Given the description of an element on the screen output the (x, y) to click on. 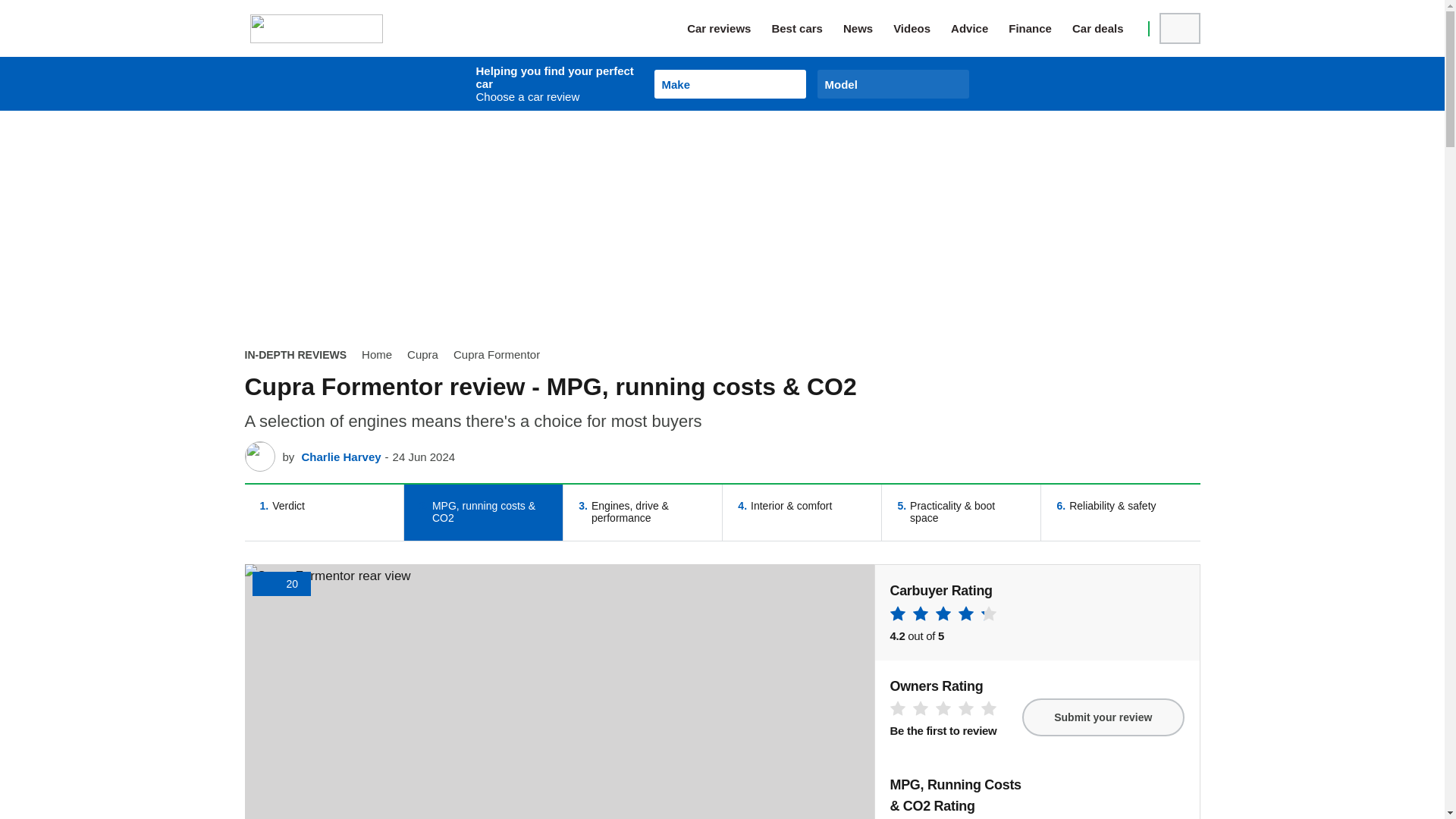
Leave your review (1102, 717)
Car deals (1107, 27)
Car reviews (729, 27)
0 Stars (942, 711)
News (868, 27)
Finance (1040, 27)
Best cars (807, 27)
Advice (979, 27)
Search (1178, 28)
4.2 Stars (942, 615)
Videos (921, 27)
